Given the description of an element on the screen output the (x, y) to click on. 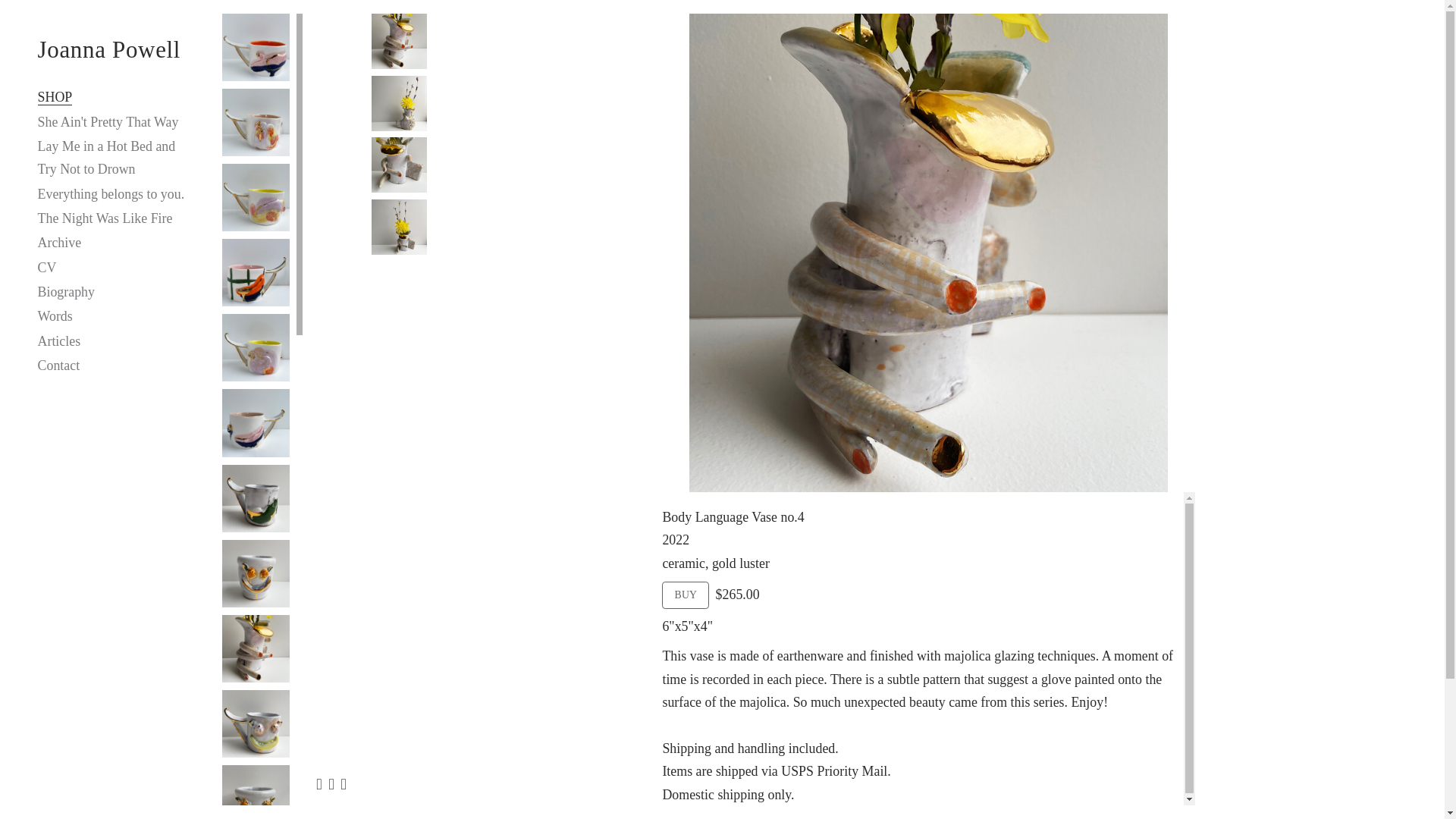
CV (46, 267)
Lay Me in a Hot Bed and Try Not to Drown (106, 157)
Words (54, 315)
Articles (59, 340)
SHOP (54, 97)
The Night Was Like Fire (105, 218)
Biography (65, 291)
Archive (59, 242)
Everything belongs to you. (110, 193)
She Ain't Pretty That Way (108, 121)
